Given the description of an element on the screen output the (x, y) to click on. 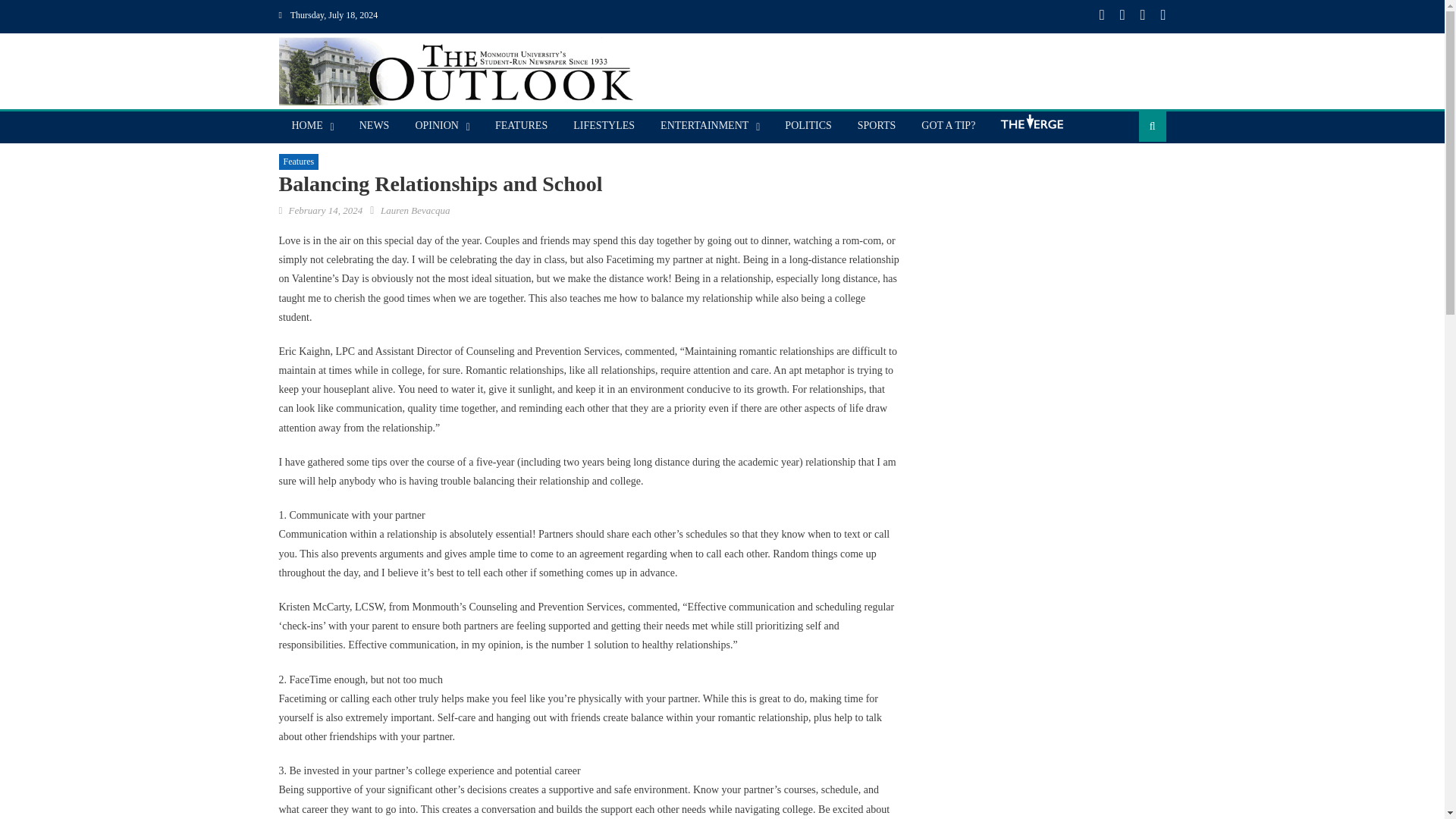
HOME (307, 125)
OPINION (436, 125)
SPORTS (876, 125)
ENTERTAINMENT (704, 125)
NEWS (374, 125)
Features (298, 161)
LIFESTYLES (604, 125)
THE VERGE (1030, 127)
Lauren Bevacqua (414, 210)
POLITICS (808, 125)
Search (1128, 175)
Posts by Lauren Bevacqua (414, 210)
GOT A TIP? (948, 125)
February 14, 2024 (325, 210)
FEATURES (521, 125)
